Given the description of an element on the screen output the (x, y) to click on. 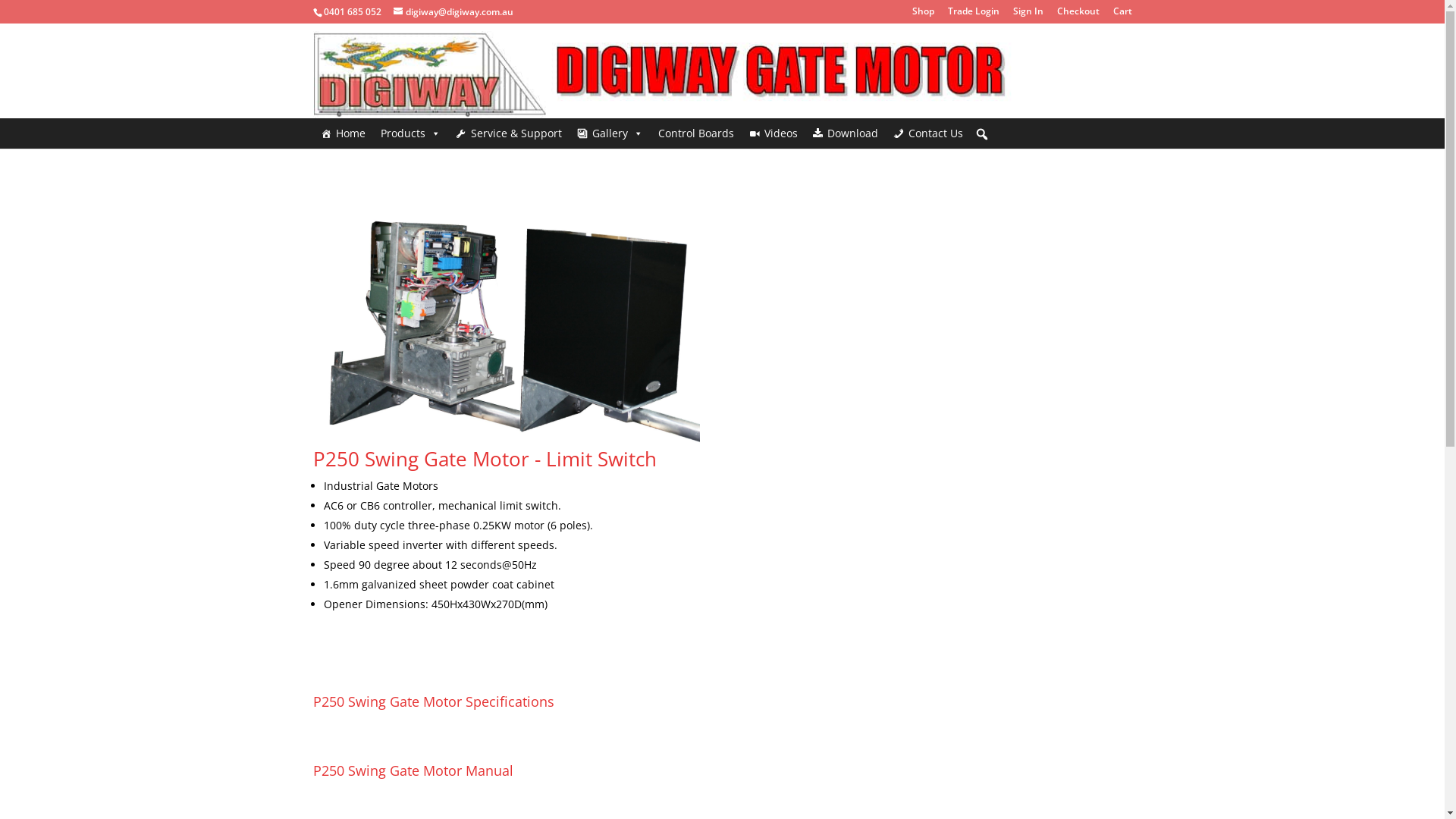
Videos Element type: text (773, 133)
Checkout Element type: text (1078, 14)
Sign In Element type: text (1028, 14)
Products Element type: text (410, 133)
P250 Swing Gate Motor Specifications Element type: text (432, 701)
Contact Us Element type: text (927, 133)
P250 Swing Gate Motor Manual Element type: text (412, 770)
digiway@digiway.com.au Element type: text (452, 11)
Cart Element type: text (1122, 14)
Download Element type: text (845, 133)
Home Element type: text (342, 133)
Shop Element type: text (922, 14)
Control Boards Element type: text (695, 133)
Trade Login Element type: text (973, 14)
Gallery Element type: text (608, 133)
Search Element type: text (11, 9)
Service & Support Element type: text (507, 133)
